Given the description of an element on the screen output the (x, y) to click on. 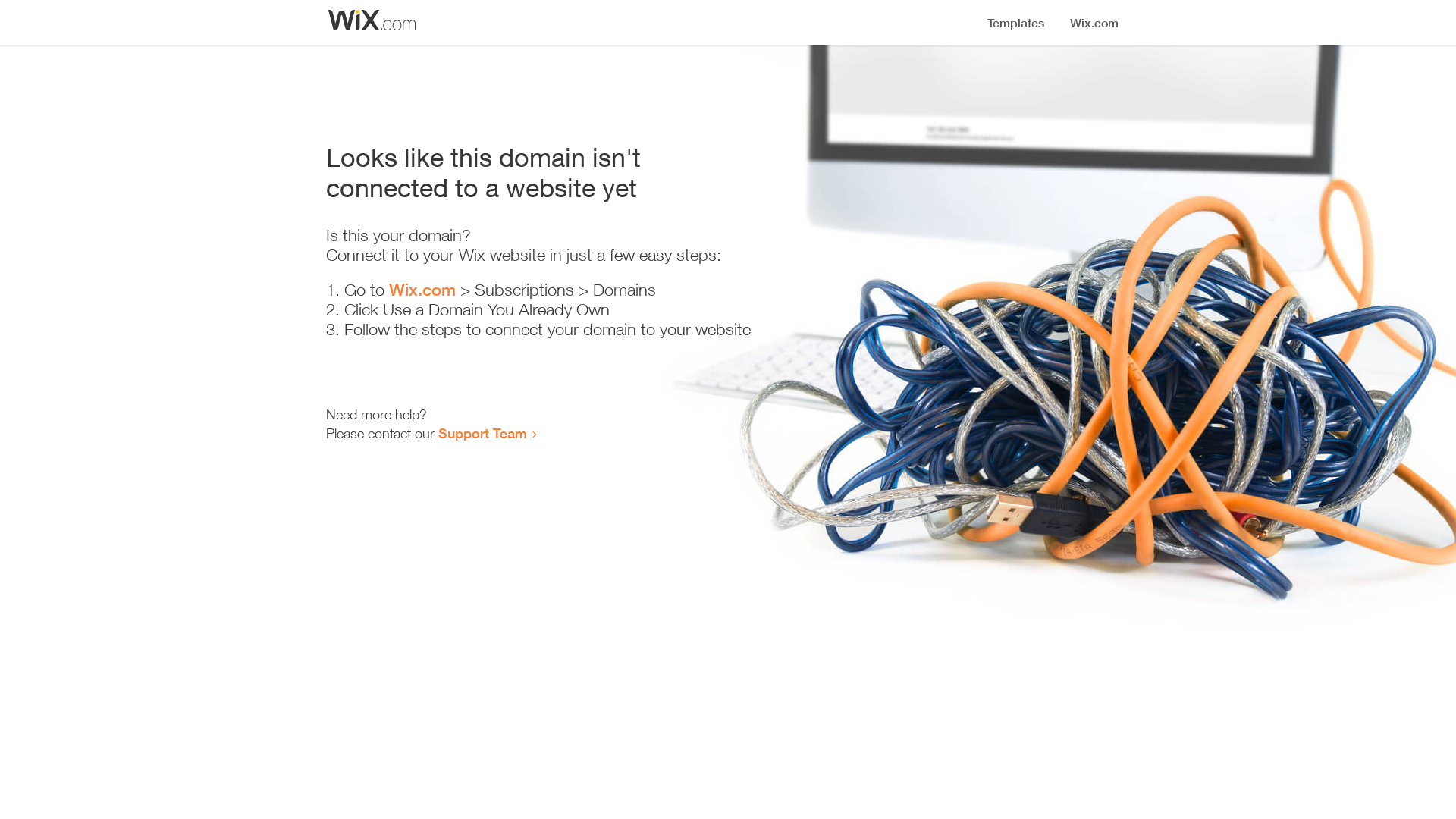
Wix.com Element type: text (422, 289)
Support Team Element type: text (482, 432)
